Given the description of an element on the screen output the (x, y) to click on. 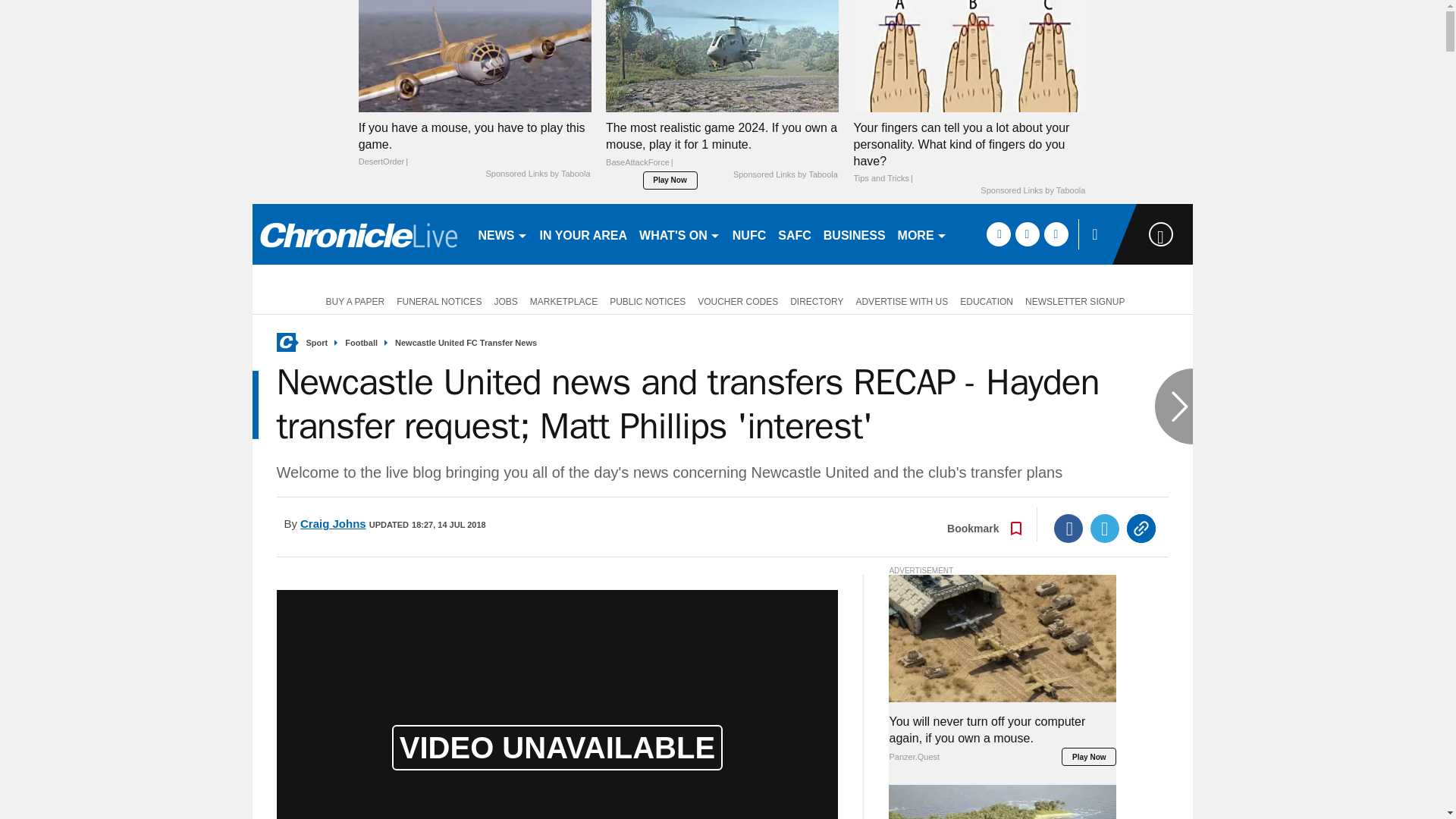
facebook (997, 233)
Facebook (1068, 528)
twitter (1026, 233)
Sponsored Links by Taboola (536, 174)
nechronicle (357, 233)
Play Now (670, 180)
IN YOUR AREA (583, 233)
NEWS (501, 233)
instagram (1055, 233)
WHAT'S ON (679, 233)
